Given the description of an element on the screen output the (x, y) to click on. 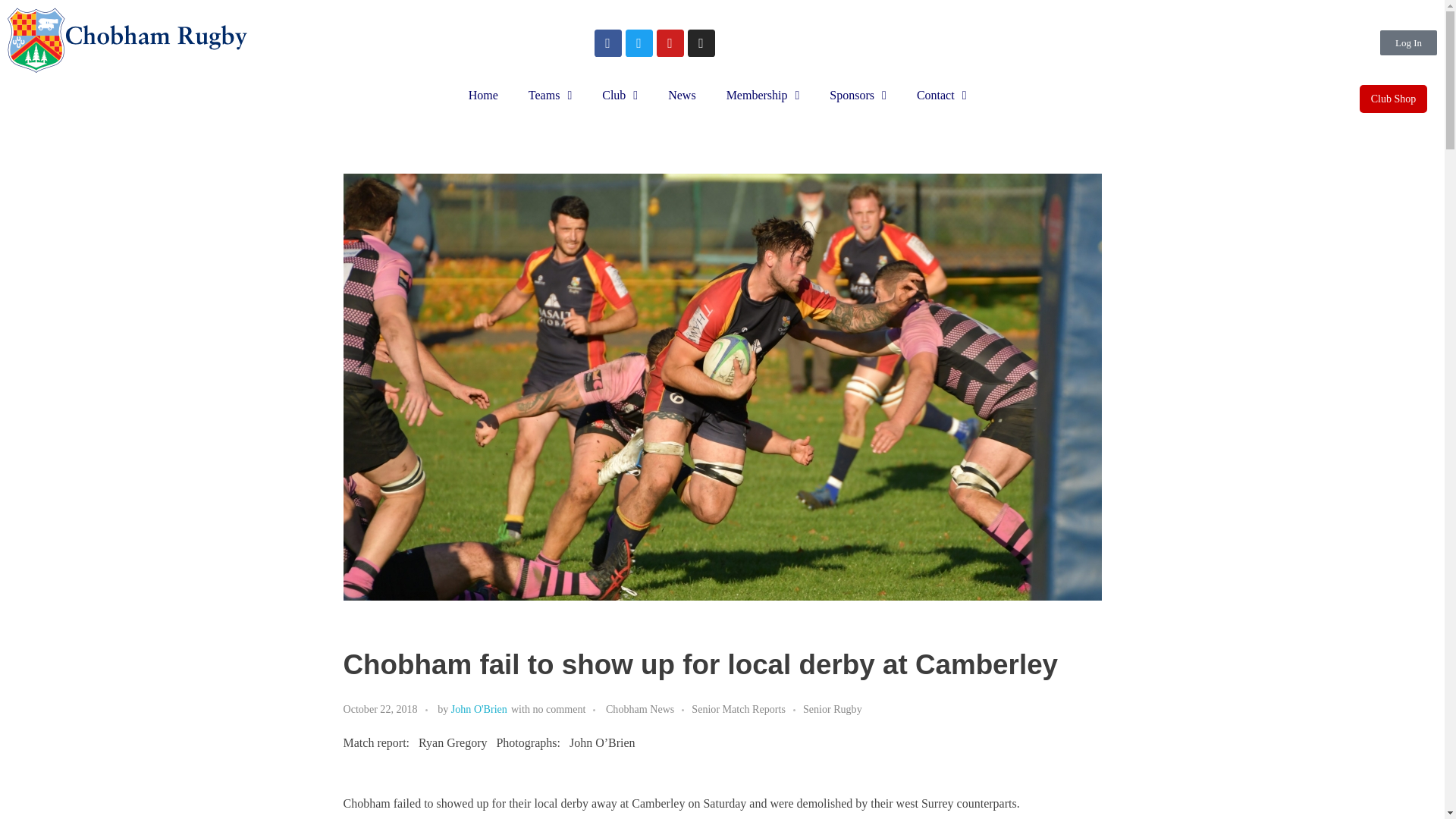
Home (482, 95)
View all posts in Chobham News (648, 709)
View all posts by John O'Brien (478, 708)
View all posts in Senior Rugby (832, 709)
Chobham Rugby (79, 81)
Teams (549, 95)
Log In (1408, 42)
Chobham Rugby (79, 81)
Club (619, 95)
View all posts in Senior Match Reports (747, 709)
Chobham Rugby (128, 39)
